Given the description of an element on the screen output the (x, y) to click on. 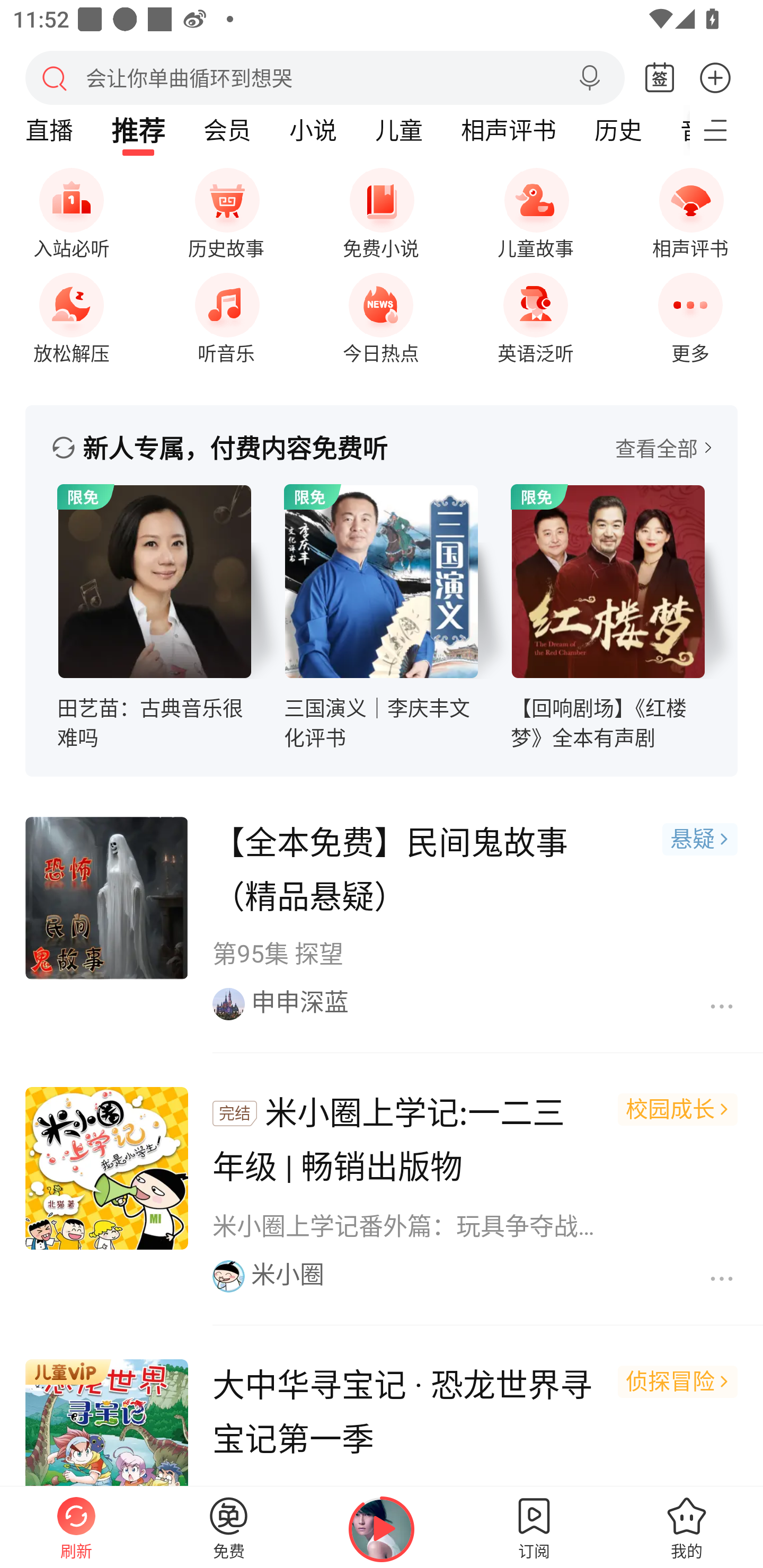
搜索 会让你单曲循环到想哭 语音搜索 (324, 77)
更多 (714, 77)
签到 (659, 78)
语音搜索 (589, 78)
直播 (49, 130)
推荐 (138, 130)
会员 (227, 130)
小说 (313, 130)
儿童 (398, 130)
相声评书 (508, 130)
历史 (618, 130)
更多频道 (726, 130)
入站必听 (71, 209)
历史故事 (226, 209)
免费小说 (380, 209)
儿童故事 (535, 209)
相声评书 (689, 209)
放松解压 (71, 312)
听音乐 (226, 312)
今日热点 (380, 312)
英语泛听 (535, 312)
更多 (689, 312)
查看全部 (662, 448)
专辑图标 (154, 581)
专辑图标 (381, 581)
专辑图标 (607, 581)
【全本免费】民间鬼故事（精品悬疑） 悬疑    第95集 探望 申申深蓝 (381, 919)
刷新 (76, 1526)
免费 (228, 1526)
订阅 (533, 1526)
我的 (686, 1526)
继续播放Alpha-橘子海OrangeOcean (381, 1529)
